Given the description of an element on the screen output the (x, y) to click on. 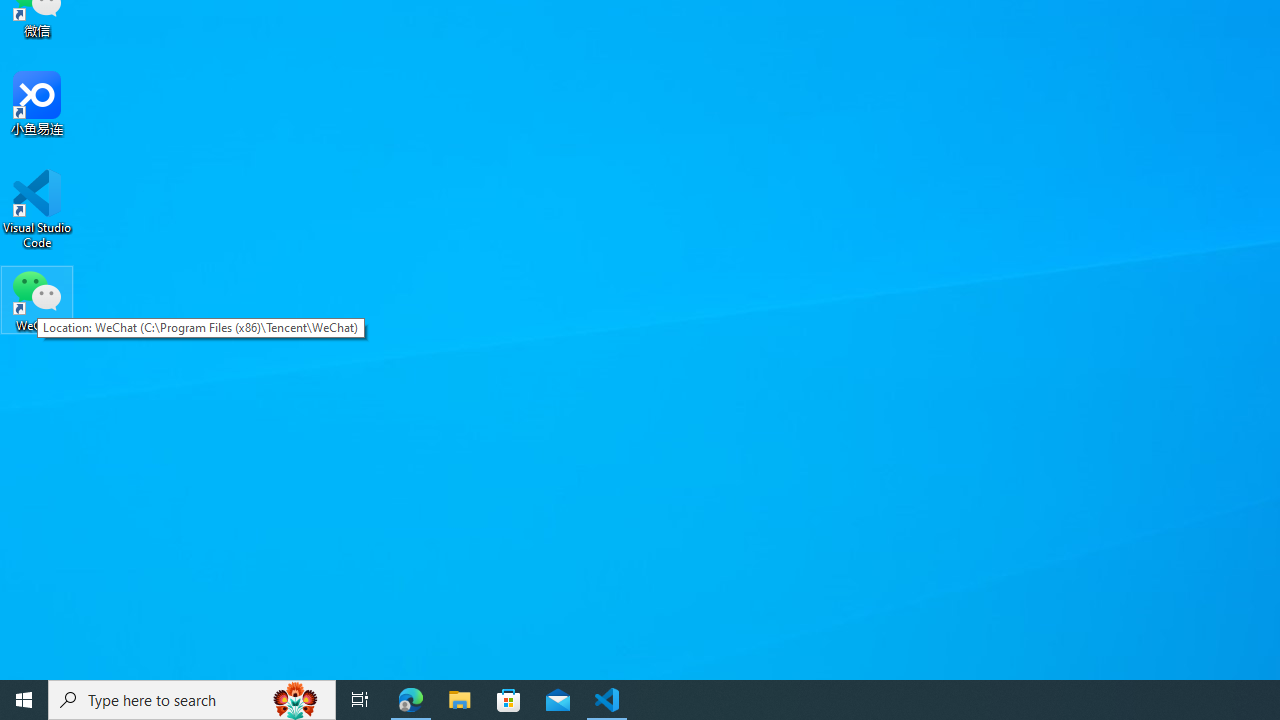
Microsoft Store (509, 699)
WeChat (37, 299)
Type here to search (191, 699)
Visual Studio Code - 1 running window (607, 699)
Visual Studio Code (37, 209)
Microsoft Edge - 1 running window (411, 699)
Search highlights icon opens search home window (295, 699)
Start (24, 699)
File Explorer (460, 699)
Task View (359, 699)
